Given the description of an element on the screen output the (x, y) to click on. 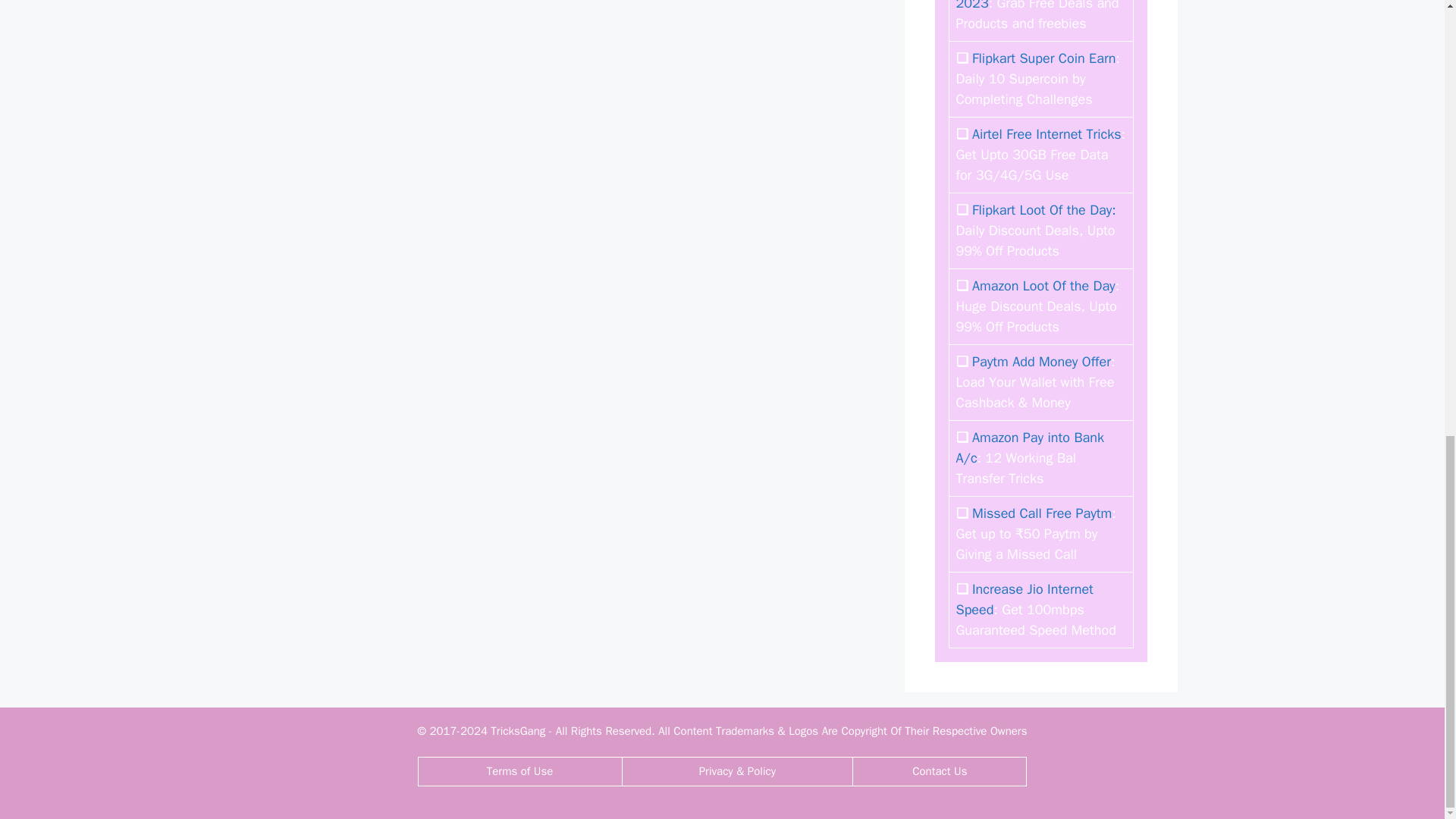
Free Sample in India 2023 (1024, 5)
Airtel Free Internet Tricks (1046, 134)
Flipkart Loot Of the Day: (1044, 209)
Contact Us (939, 771)
Terms of Use (519, 771)
Paytm Add Money Offer (1041, 361)
Amazon Loot Of the Day (1043, 285)
Missed Call Free Paytm (1042, 513)
Increase Jio Internet Speed (1024, 599)
Flipkart Super Coin Earn (1043, 57)
